Given the description of an element on the screen output the (x, y) to click on. 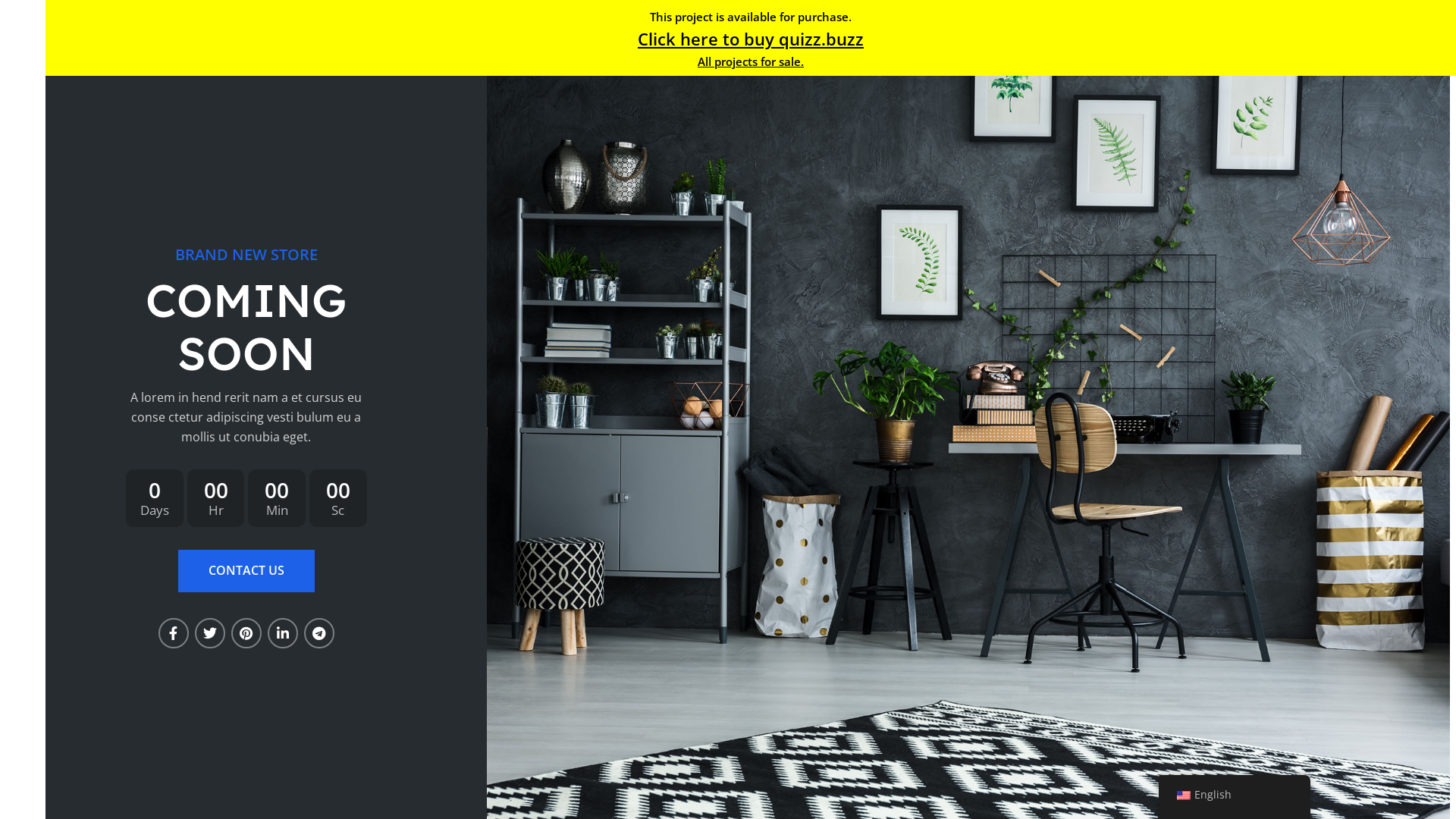
Click here to buy quizz.buzz Element type: text (750, 38)
English Element type: text (1234, 795)
CONTACT US Element type: text (246, 570)
English Element type: hover (1183, 795)
All projects for sale. Element type: text (750, 61)
